Given the description of an element on the screen output the (x, y) to click on. 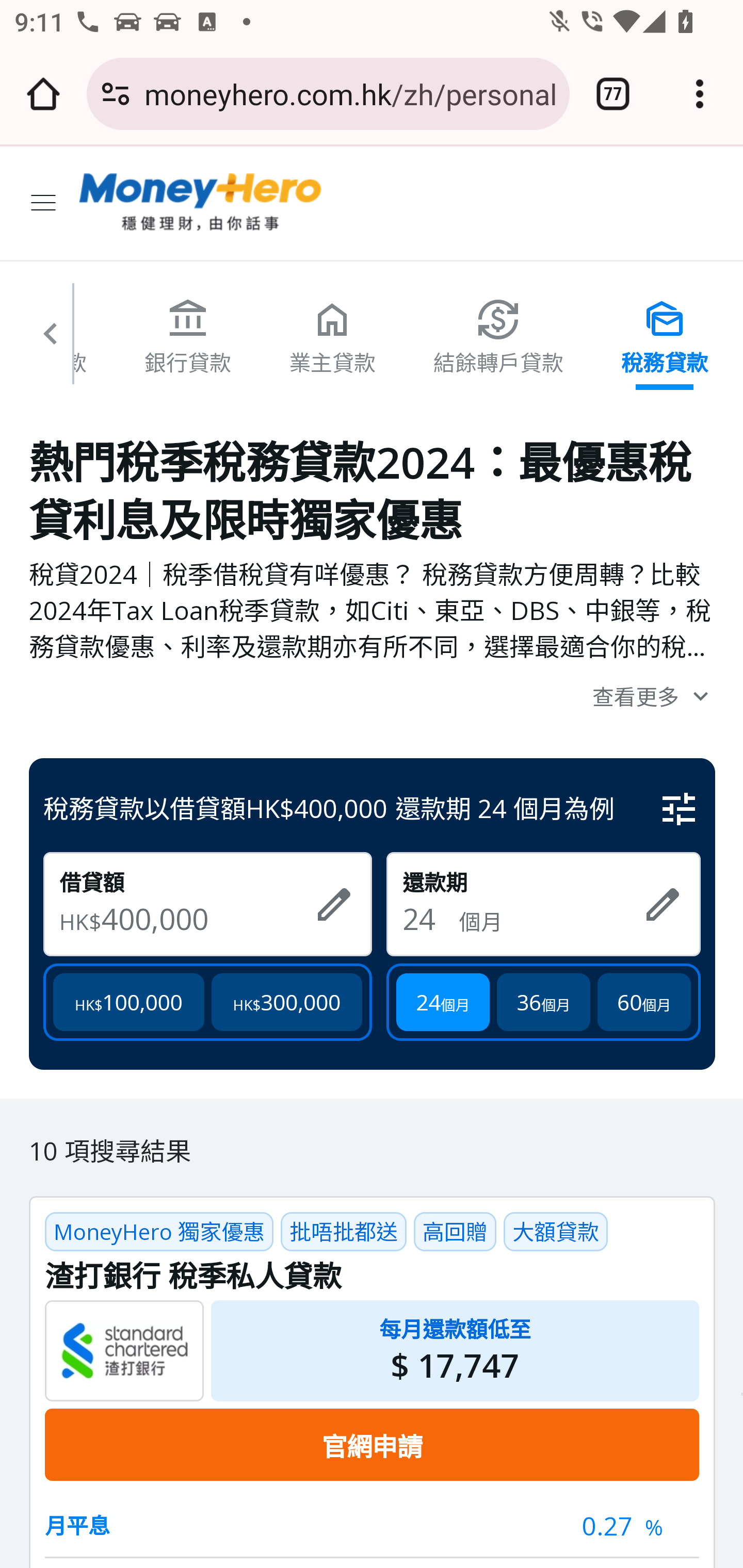
Open the home page (43, 93)
Connection is secure (115, 93)
Switch or close tabs (612, 93)
Customize and control Google Chrome (699, 93)
MH_Logo_ZH_2021-1 (201, 203)
Previous slide (50, 341)
account_balance 銀行貸款 (187, 336)
home 業主貸款 (333, 336)
currency_exchange 結餘轉戶貸款 (498, 336)
mark_as_unread 稅務貸款 (665, 336)
查看更多 expand_more 查看更多 expand_more (372, 695)
tune (679, 808)
400,000 (200, 917)
24 (430, 917)
官網申請 (371, 1444)
